Given the description of an element on the screen output the (x, y) to click on. 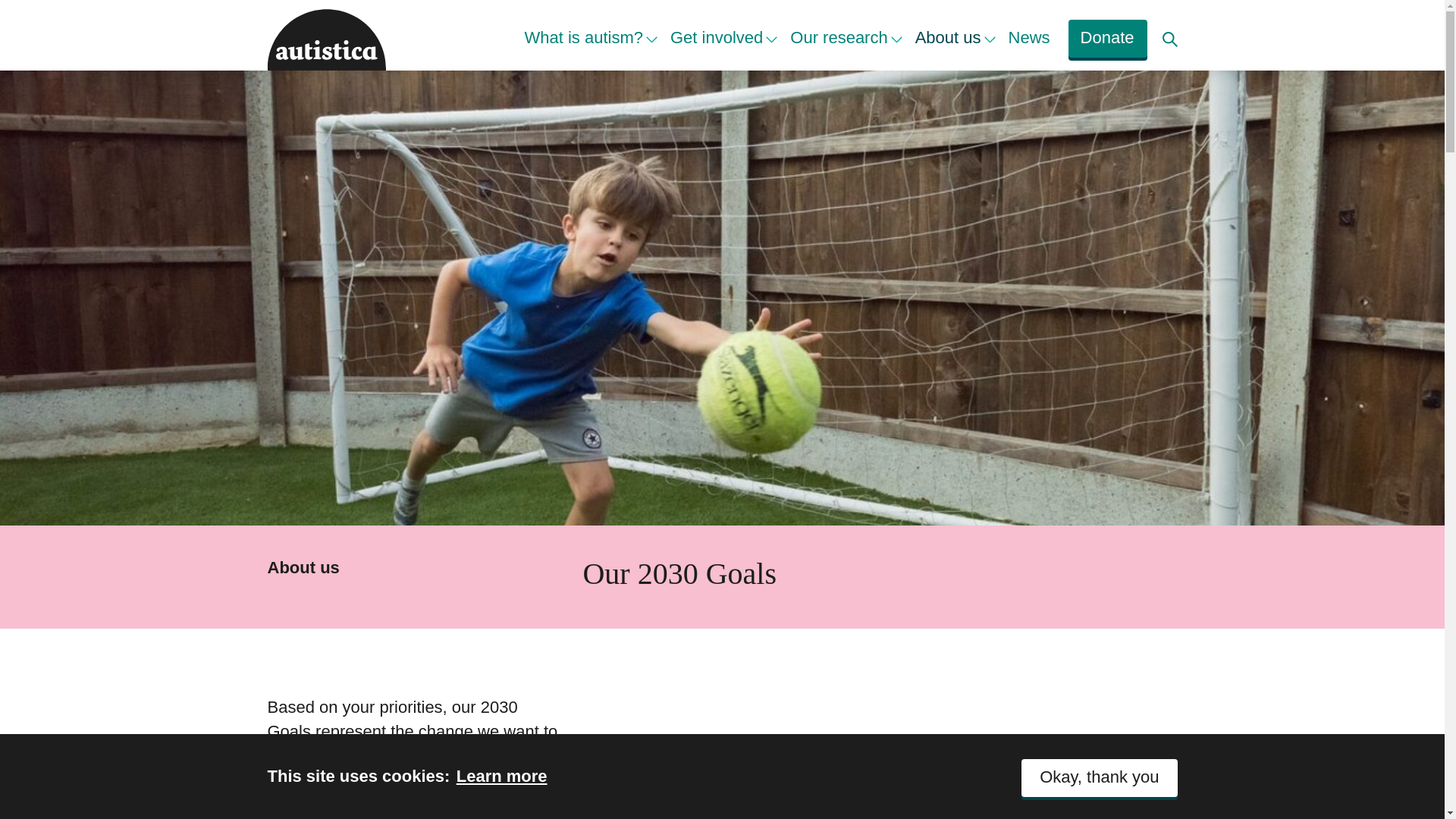
Go (5, 4)
